Given the description of an element on the screen output the (x, y) to click on. 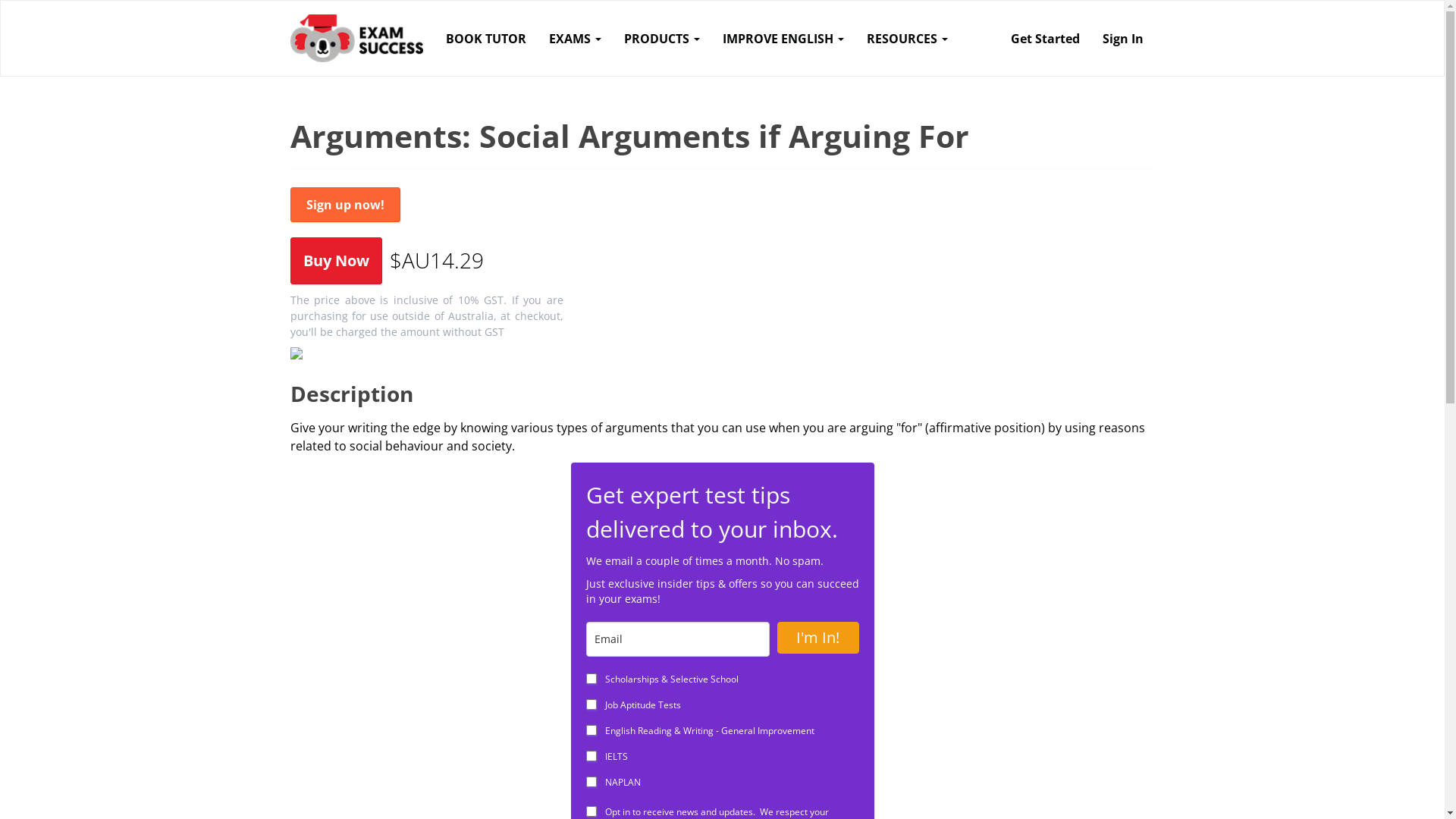
PRODUCTS Element type: text (661, 37)
RESOURCES Element type: text (907, 37)
Buy Now Element type: text (335, 259)
Get Started Element type: text (1045, 37)
BOOK TUTOR Element type: text (484, 37)
I'm In! Element type: text (817, 637)
Sign up now! Element type: text (344, 203)
IMPROVE ENGLISH Element type: text (783, 37)
EXAMS Element type: text (573, 37)
Sign In Element type: text (1122, 37)
